Given the description of an element on the screen output the (x, y) to click on. 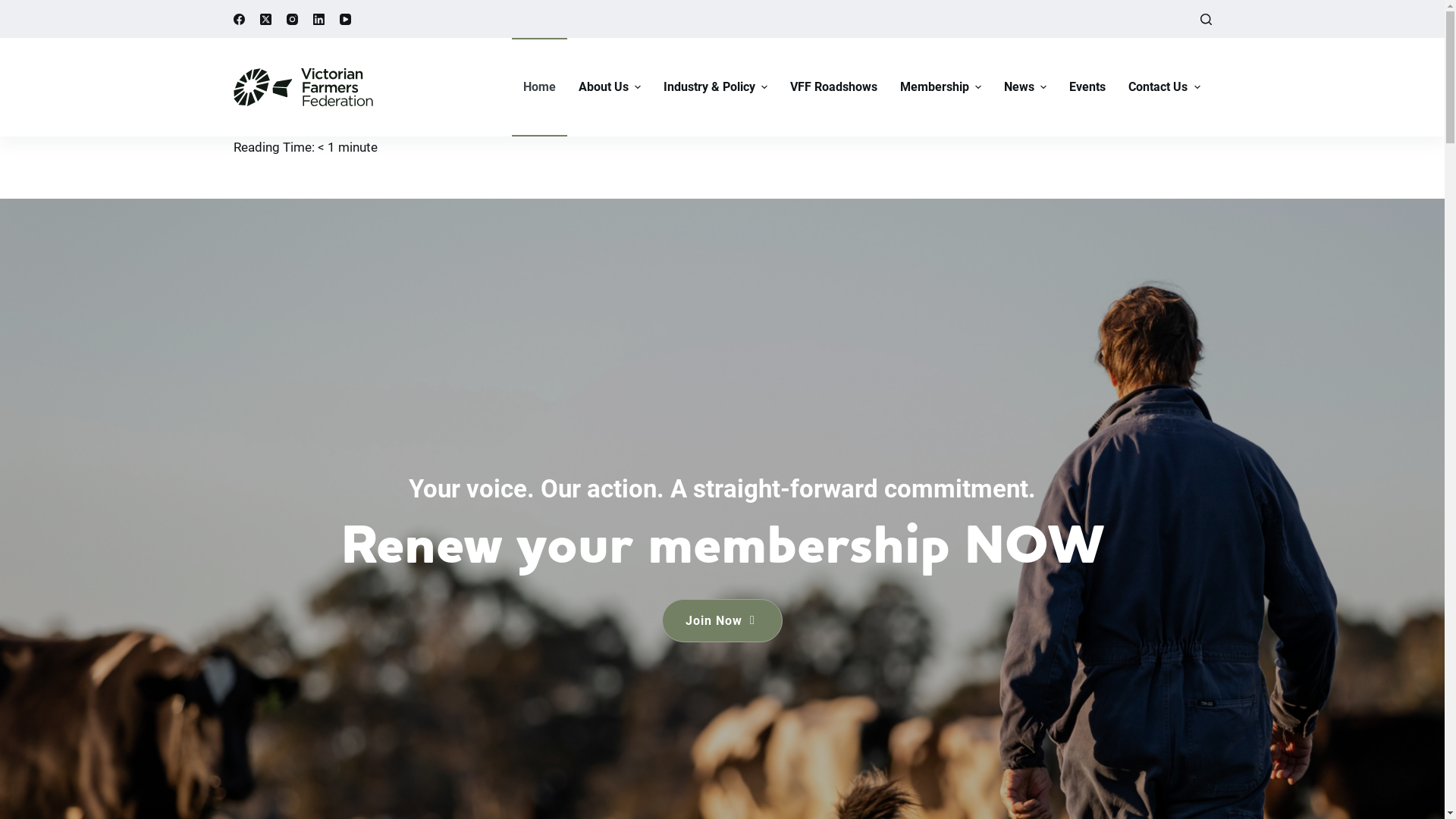
Events Element type: text (1087, 86)
Membership Element type: text (940, 86)
Join Now Element type: text (722, 620)
VFF Roadshows Element type: text (833, 86)
Contact Us Element type: text (1164, 86)
About Us Element type: text (609, 86)
News Element type: text (1024, 86)
Renew your membership NOW Element type: text (722, 546)
Industry & Policy Element type: text (715, 86)
Home Element type: text (539, 86)
Skip to content Element type: text (15, 7)
